Given the description of an element on the screen output the (x, y) to click on. 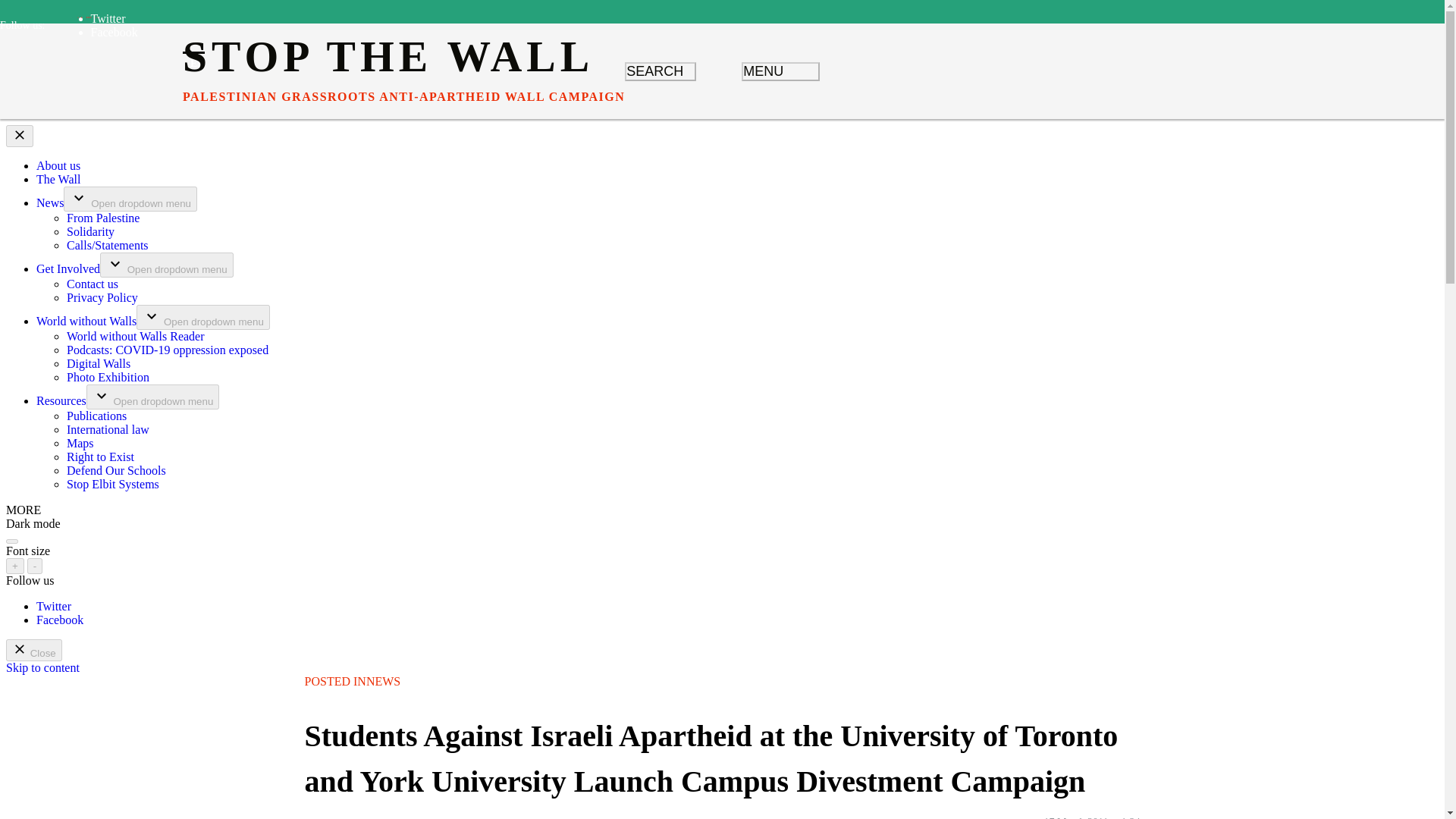
Privacy Policy (102, 297)
Contact us (91, 283)
Maps (80, 442)
Podcasts: COVID-19 oppression exposed (166, 349)
Open dropdown menu (152, 396)
The Wall (58, 178)
News (50, 202)
Open dropdown menu (202, 317)
Stop Elbit Systems (112, 483)
World without Walls Reader (135, 336)
International law (107, 429)
Defend Our Schools (115, 470)
About us (58, 164)
Photo Exhibition (107, 377)
Digital Walls (98, 363)
